Given the description of an element on the screen output the (x, y) to click on. 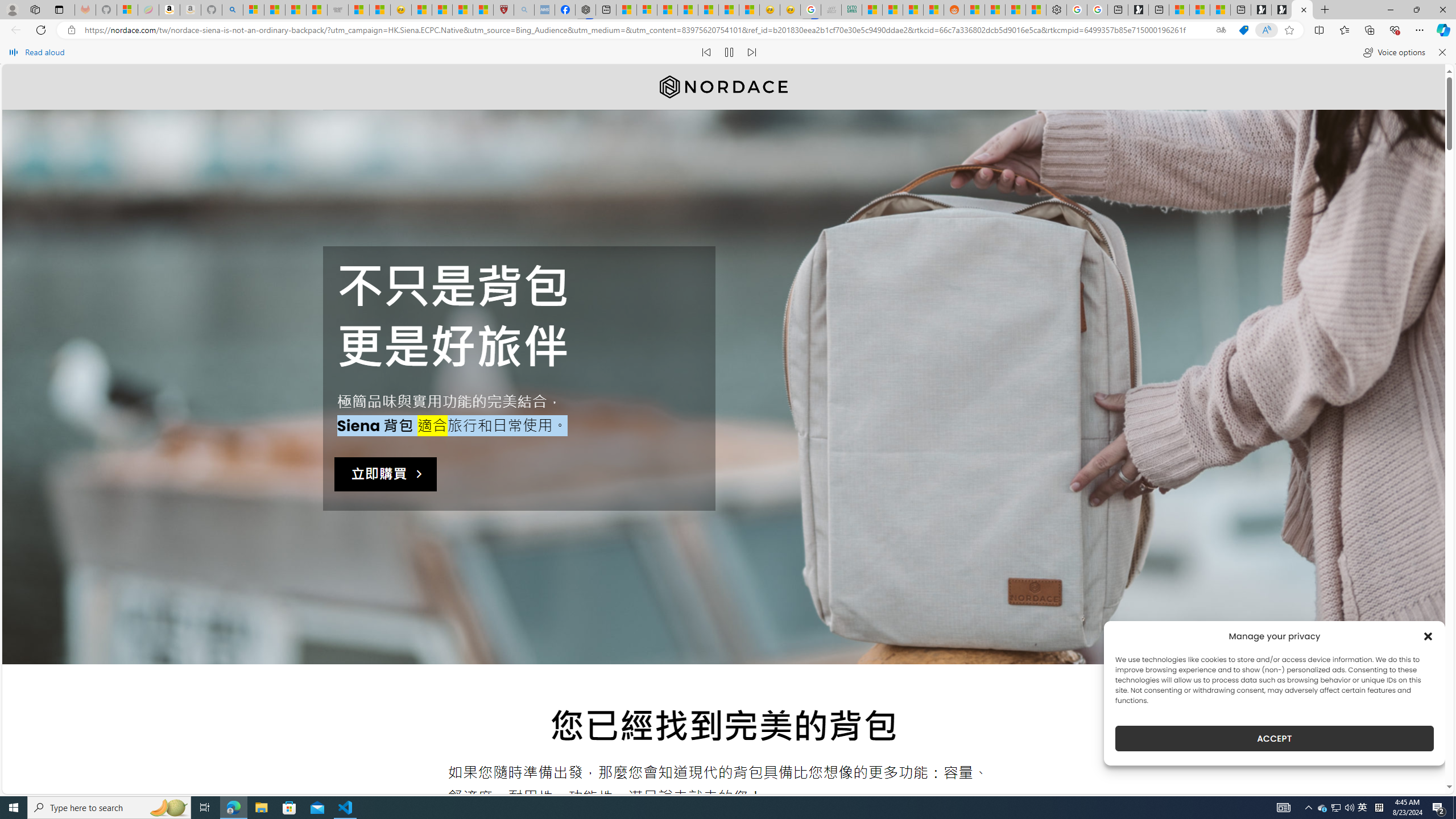
ACCEPT (1274, 738)
Fitness - MSN (708, 9)
12 Popular Science Lies that Must be Corrected (482, 9)
R******* | Trusted Community Engagement and Contributions (974, 9)
Voice options (1393, 52)
Nordace - Nordace Siena Is Not An Ordinary Backpack (1302, 9)
